Given the description of an element on the screen output the (x, y) to click on. 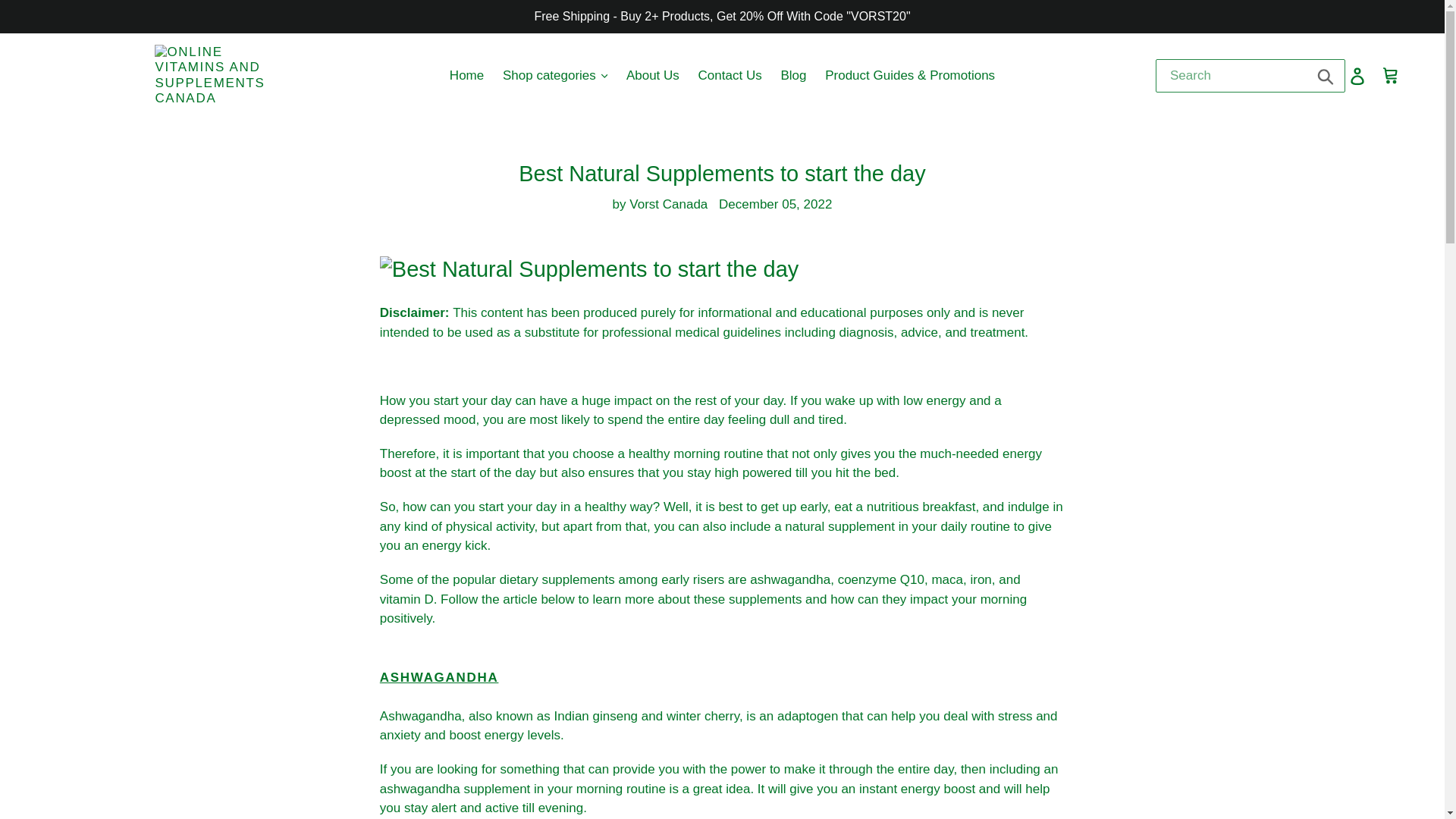
Contact Us (730, 75)
Log in (1357, 75)
Cart (1392, 75)
Home (467, 75)
Submit (1326, 75)
About Us (652, 75)
Blog (793, 75)
